Given the description of an element on the screen output the (x, y) to click on. 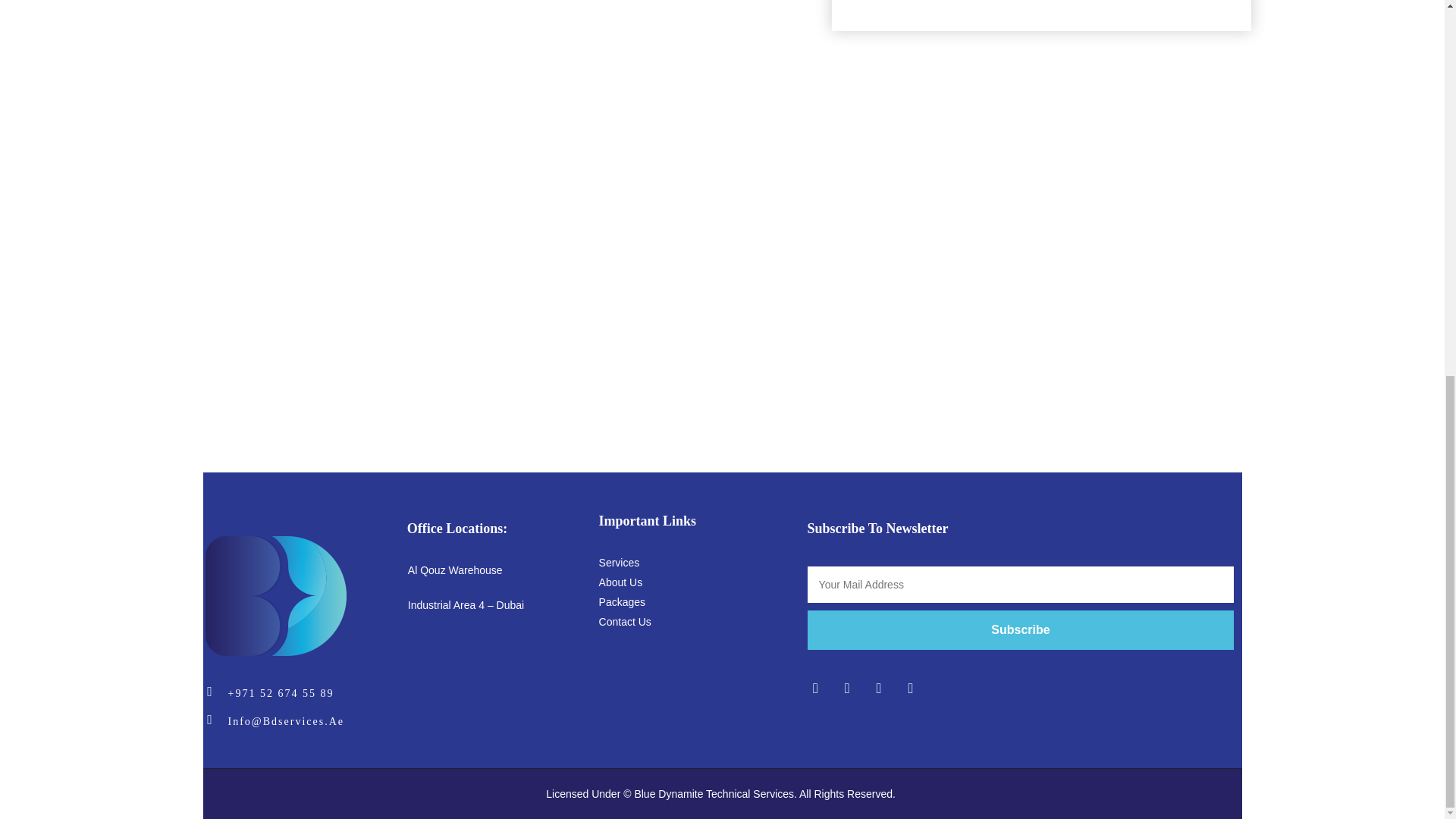
About Us (620, 582)
Services (619, 562)
Contact Us (624, 621)
Subscribe (1021, 630)
Packages (621, 602)
Subscribe (1021, 630)
